Given the description of an element on the screen output the (x, y) to click on. 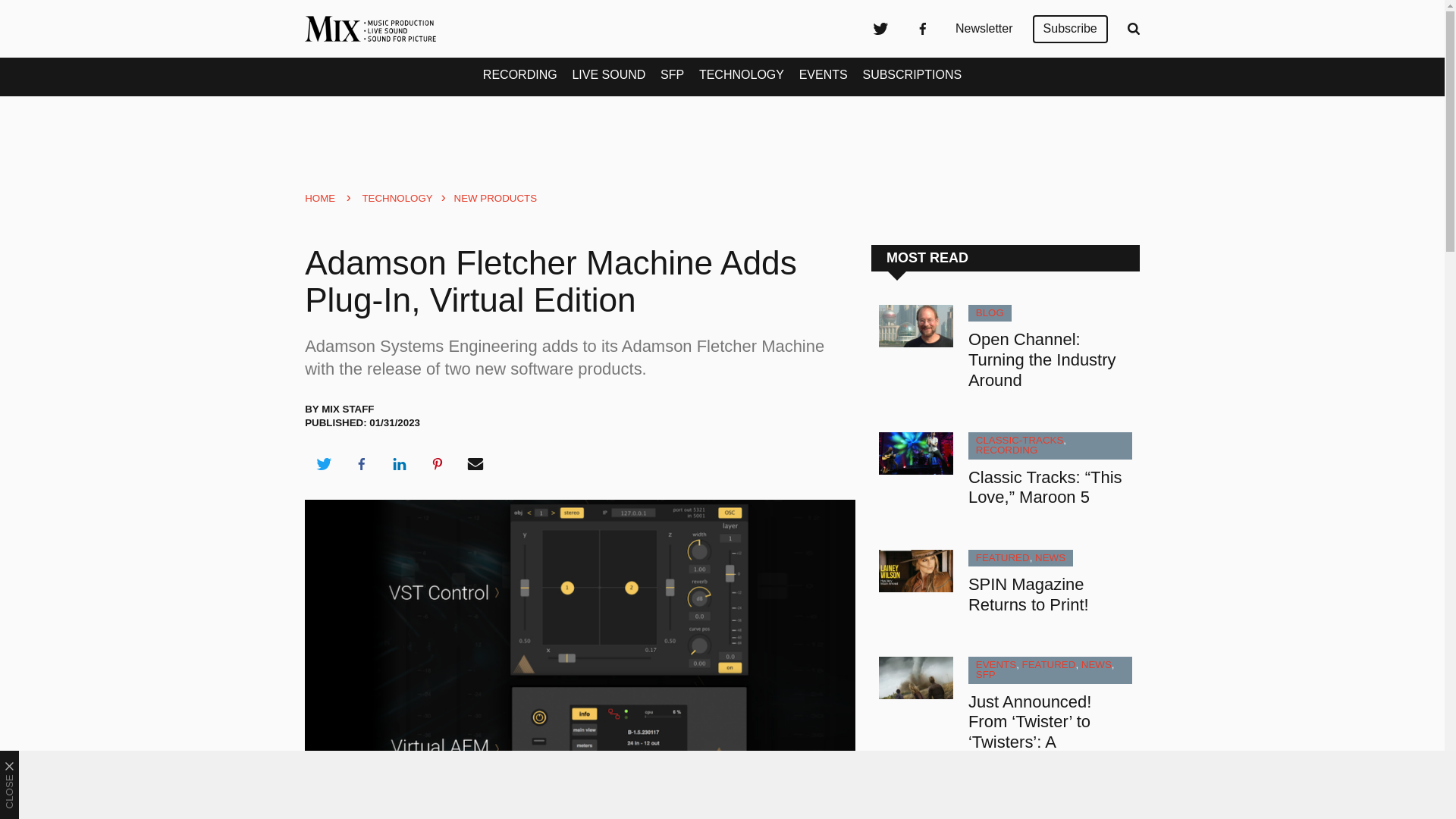
Share on Pinterest (438, 464)
Share on LinkedIn (399, 464)
Share on Facebook (361, 464)
Share via Email (476, 464)
Share on Twitter (323, 464)
